Given the description of an element on the screen output the (x, y) to click on. 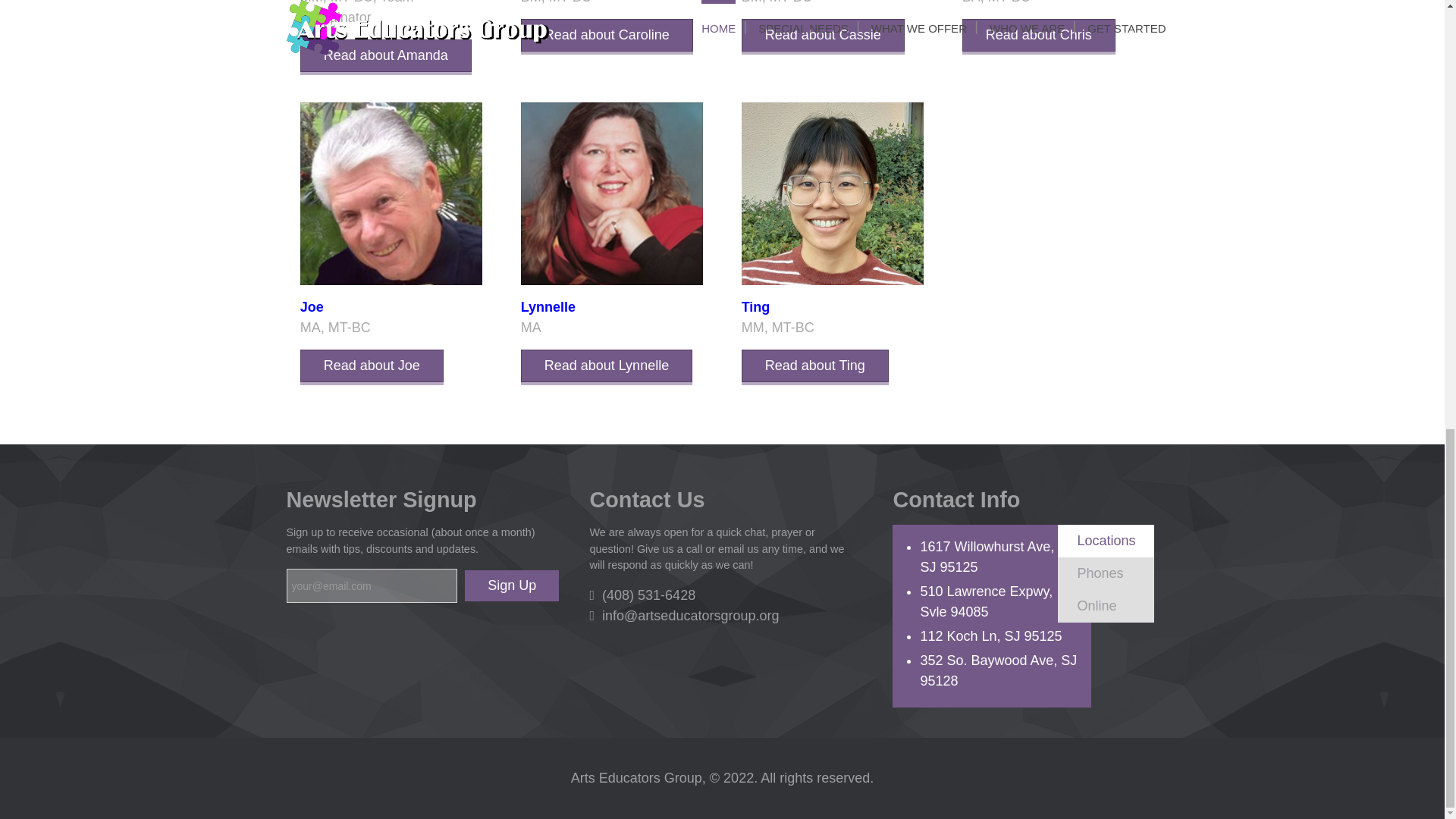
Sign Up (511, 585)
